Given the description of an element on the screen output the (x, y) to click on. 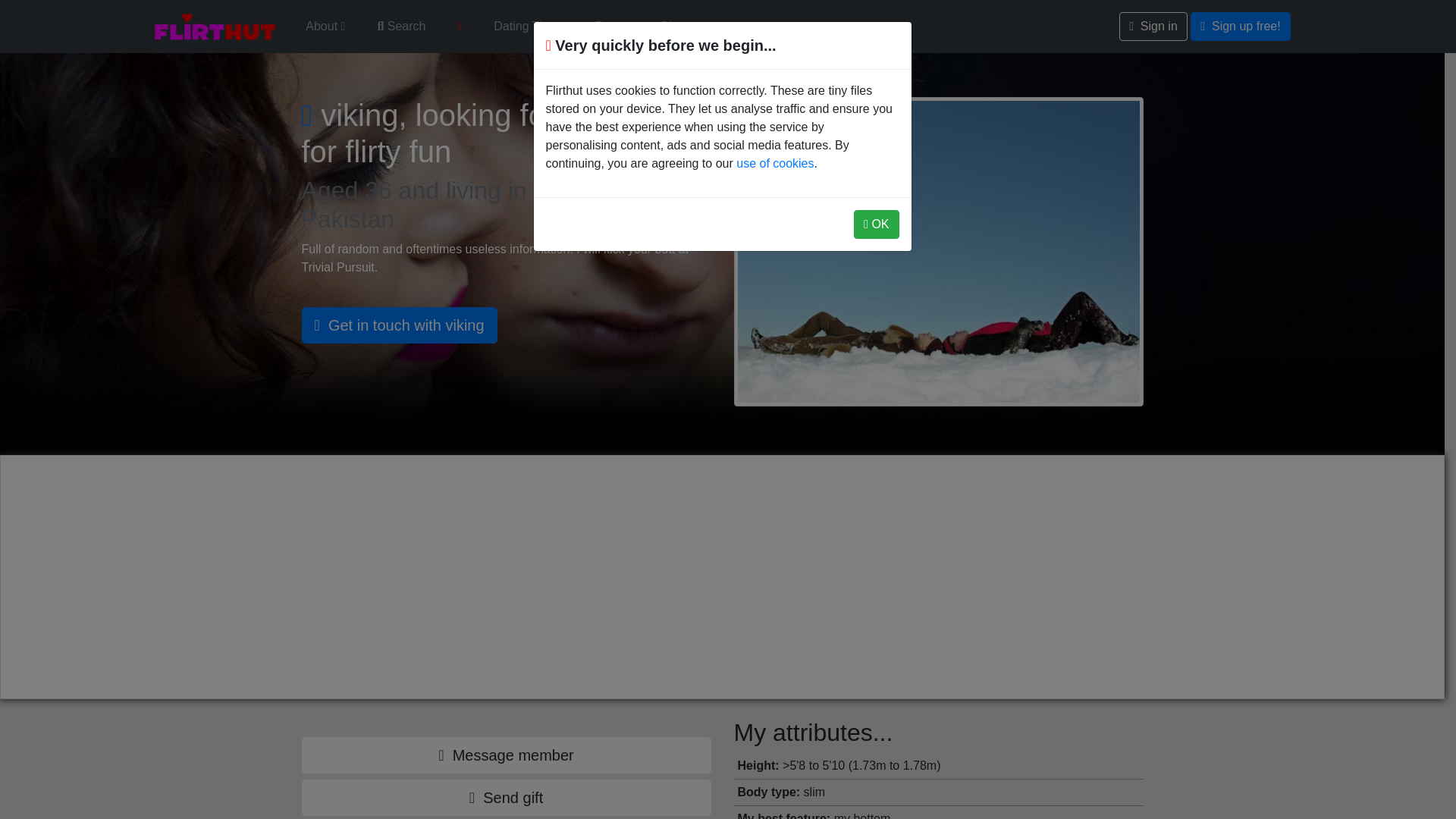
Forum (611, 26)
  Sign up free! (1240, 26)
  Send gift (506, 797)
  Message member (506, 755)
About (324, 26)
Dating Tips (527, 26)
Blog (673, 26)
  Sign in (1153, 26)
  Get in touch with viking (399, 325)
Dating tips (527, 26)
